Given the description of an element on the screen output the (x, y) to click on. 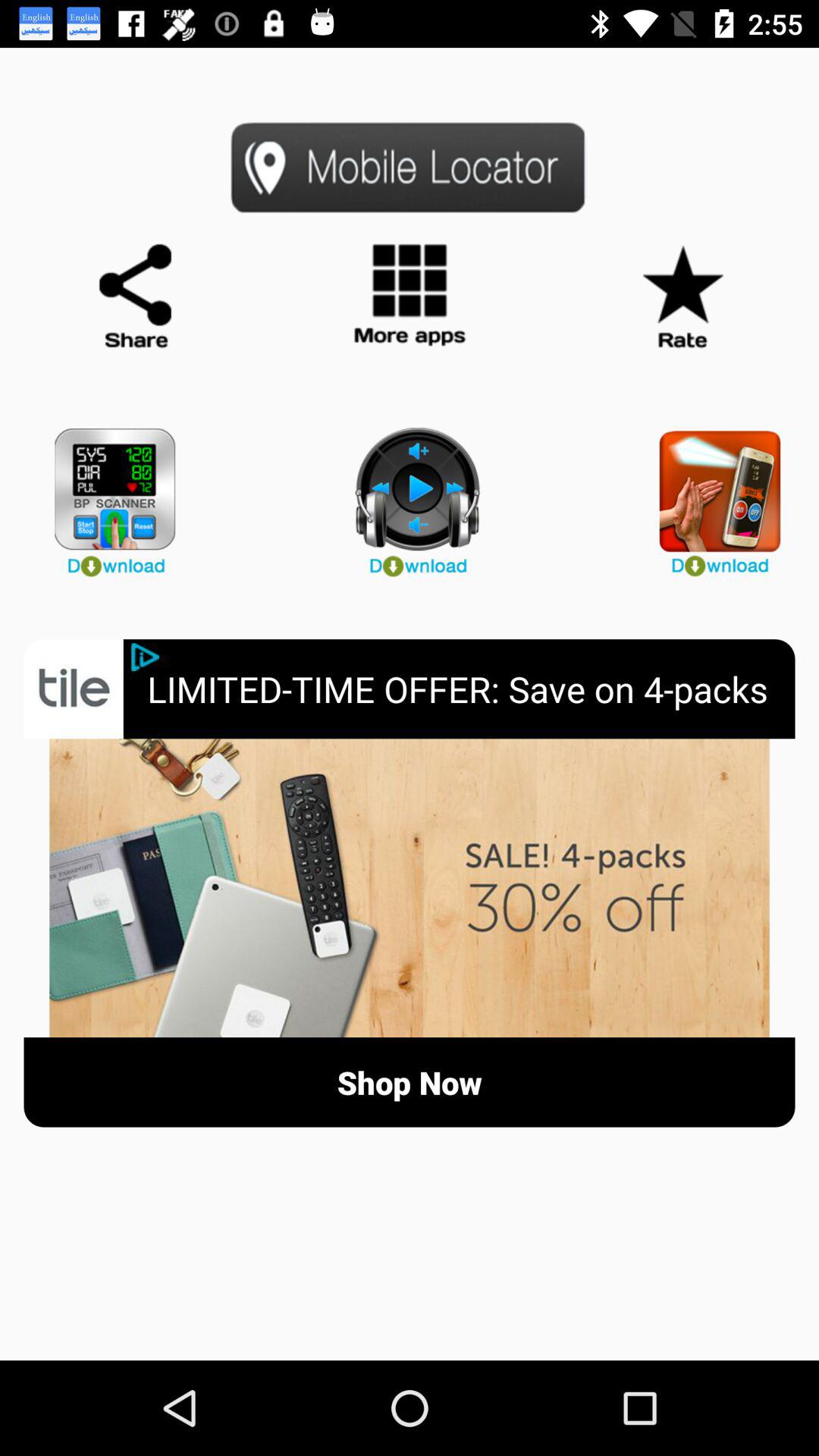
share the post (136, 296)
